Given the description of an element on the screen output the (x, y) to click on. 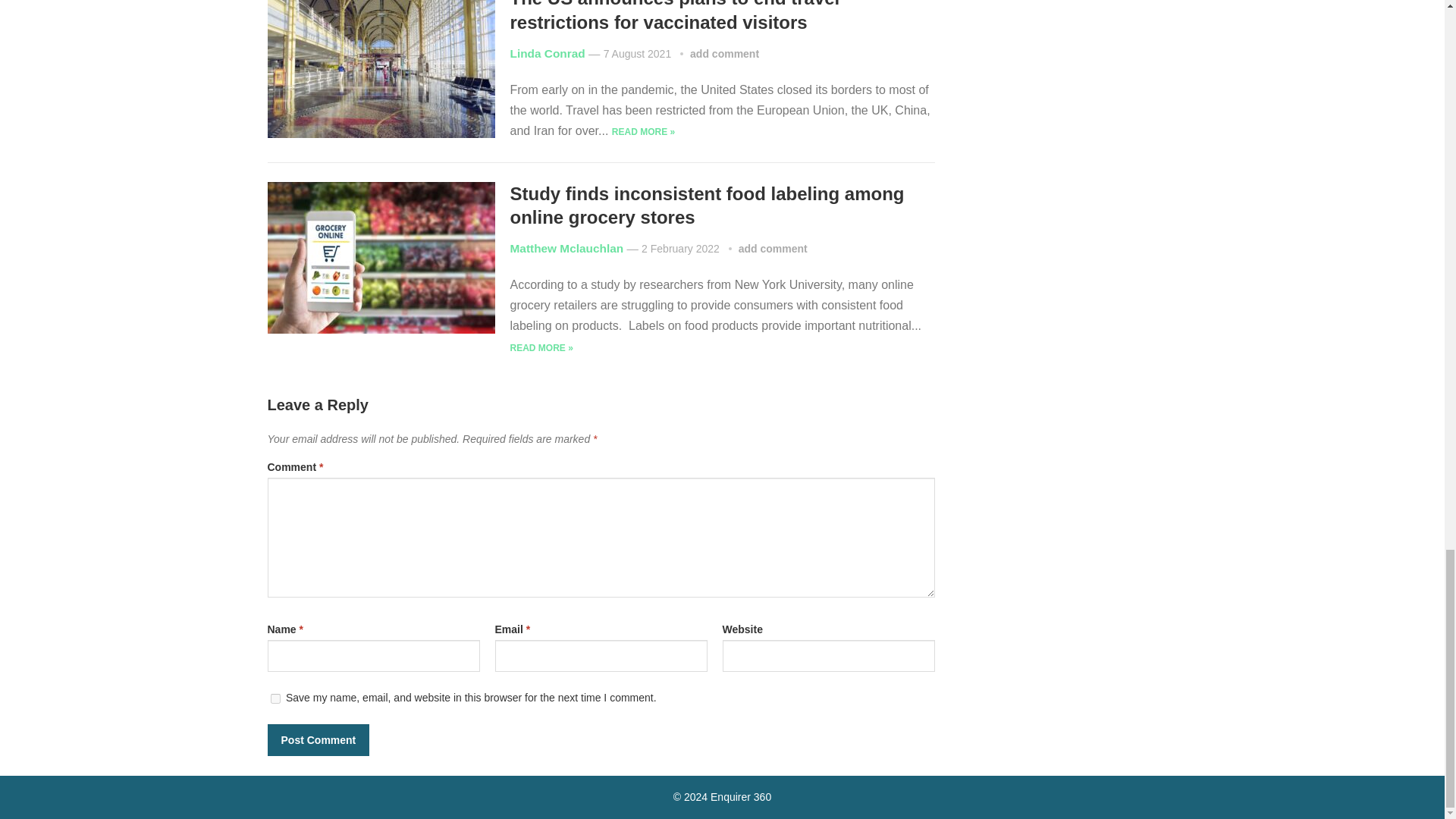
yes (274, 698)
Post Comment (317, 739)
add comment (724, 53)
Linda Conrad (547, 52)
Posts by Matthew Mclauchlan (566, 247)
Posts by Linda Conrad (547, 52)
